Given the description of an element on the screen output the (x, y) to click on. 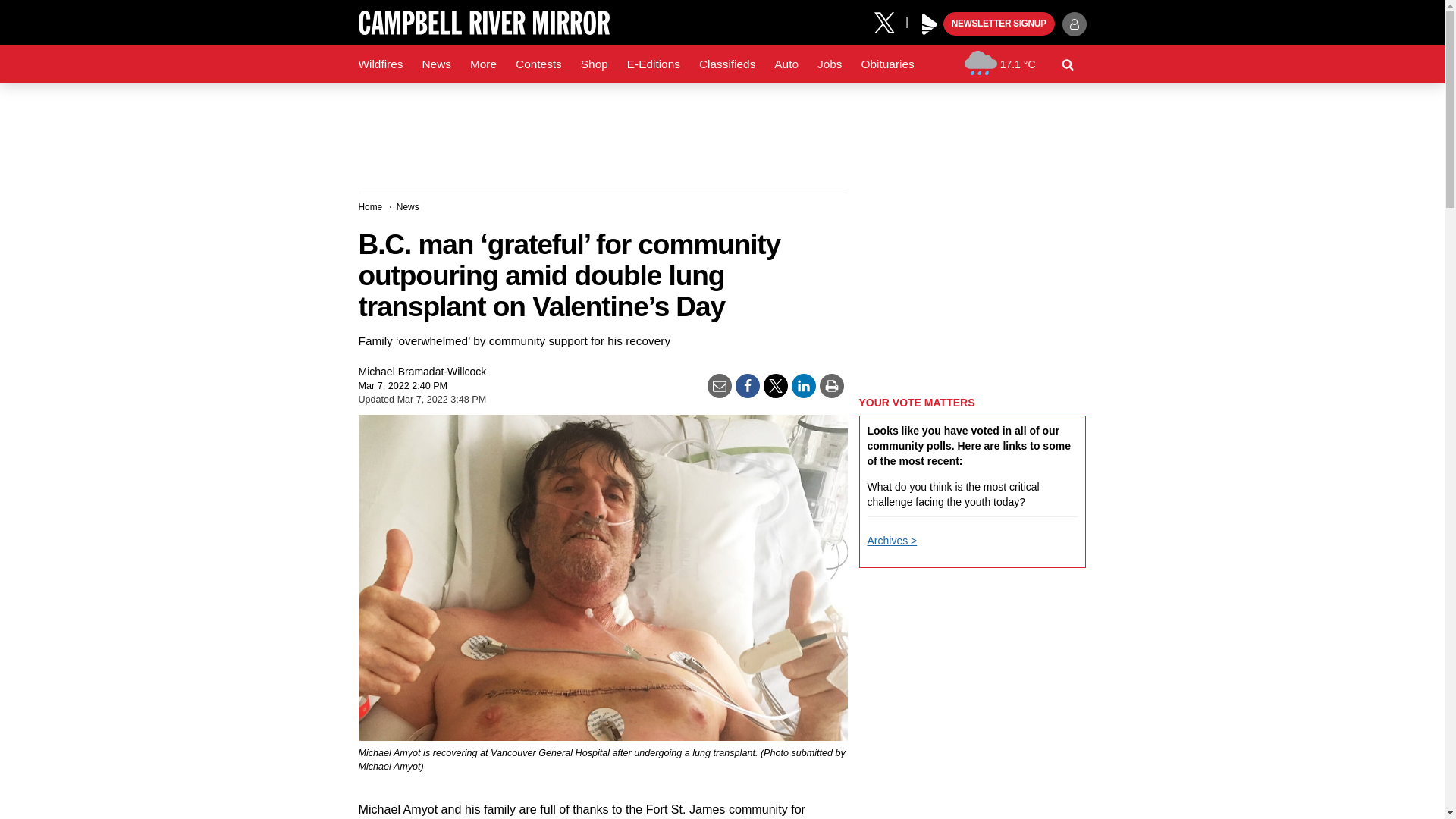
Play (929, 24)
X (889, 21)
News (435, 64)
Black Press Media (929, 24)
Wildfires (380, 64)
NEWSLETTER SIGNUP (998, 24)
